Given the description of an element on the screen output the (x, y) to click on. 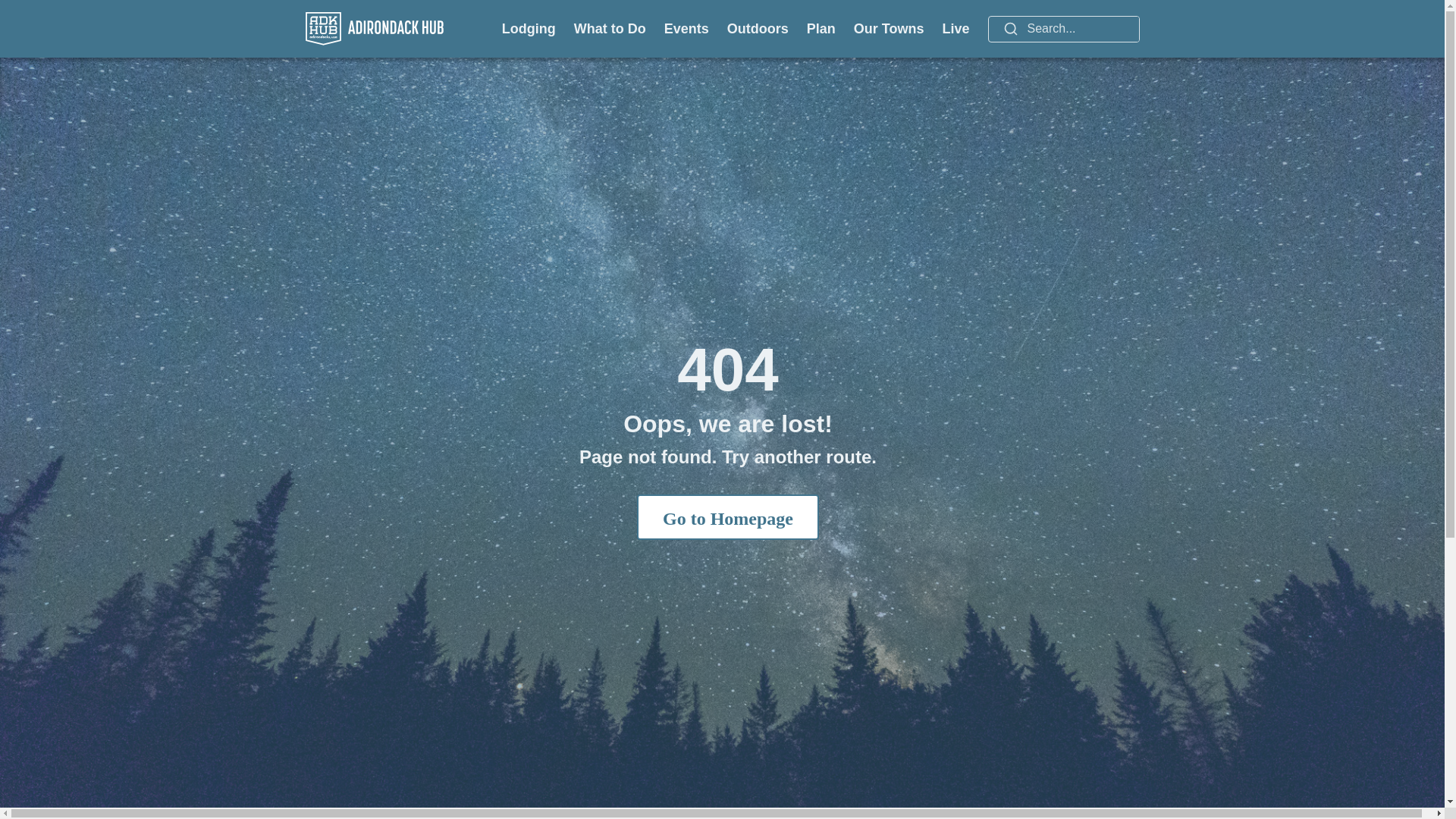
Lodging (529, 28)
Events (686, 28)
Outdoors (757, 28)
What to Do (609, 28)
